Given the description of an element on the screen output the (x, y) to click on. 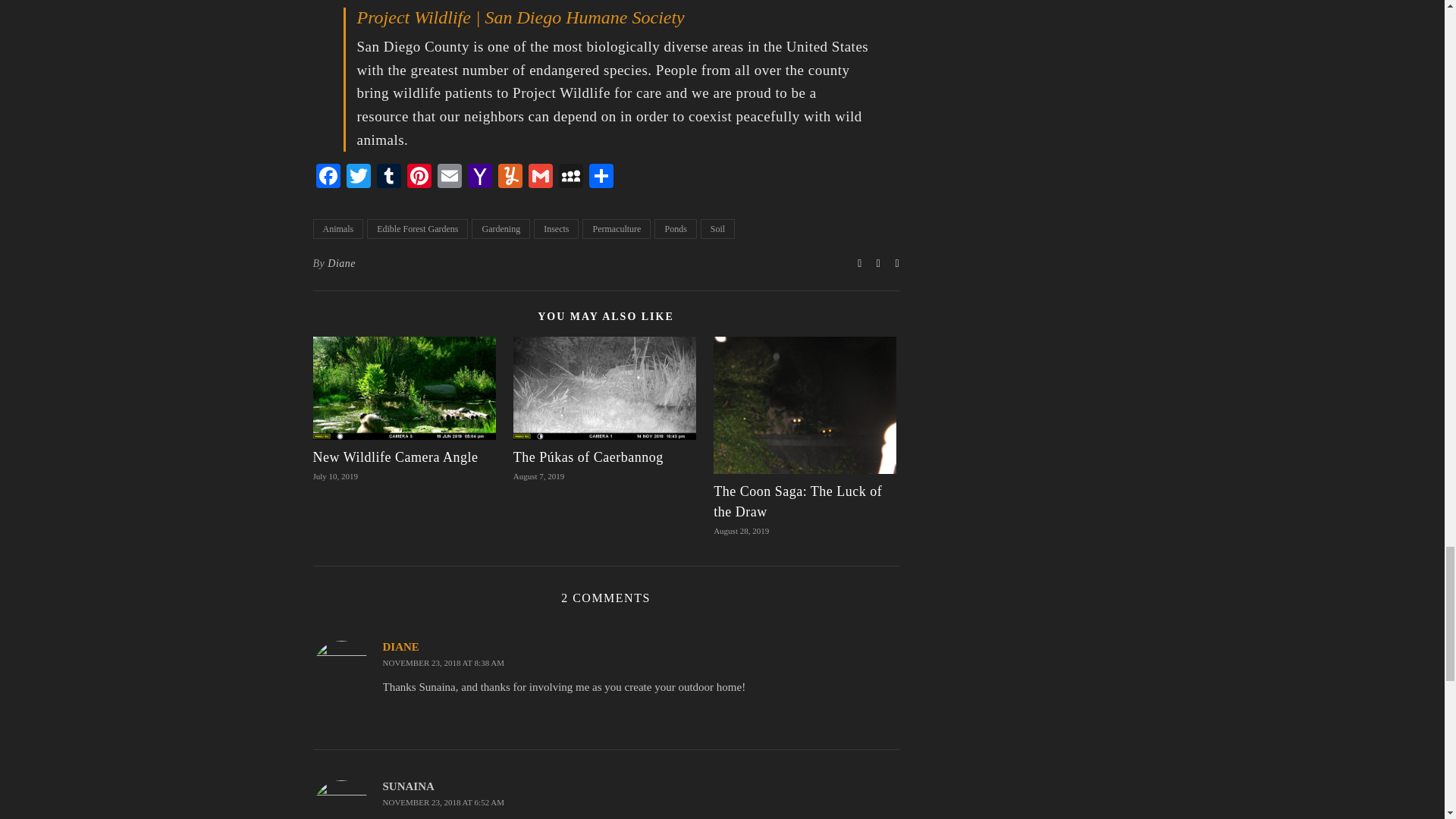
Facebook (327, 177)
Yummly (509, 177)
Twitter (357, 177)
Pinterest (418, 177)
Yahoo Mail (479, 177)
Twitter (357, 177)
Tumblr (387, 177)
Yummly (509, 177)
Gmail (539, 177)
MySpace (569, 177)
Email (448, 177)
Tumblr (387, 177)
Yahoo Mail (479, 177)
Pinterest (418, 177)
Facebook (327, 177)
